Given the description of an element on the screen output the (x, y) to click on. 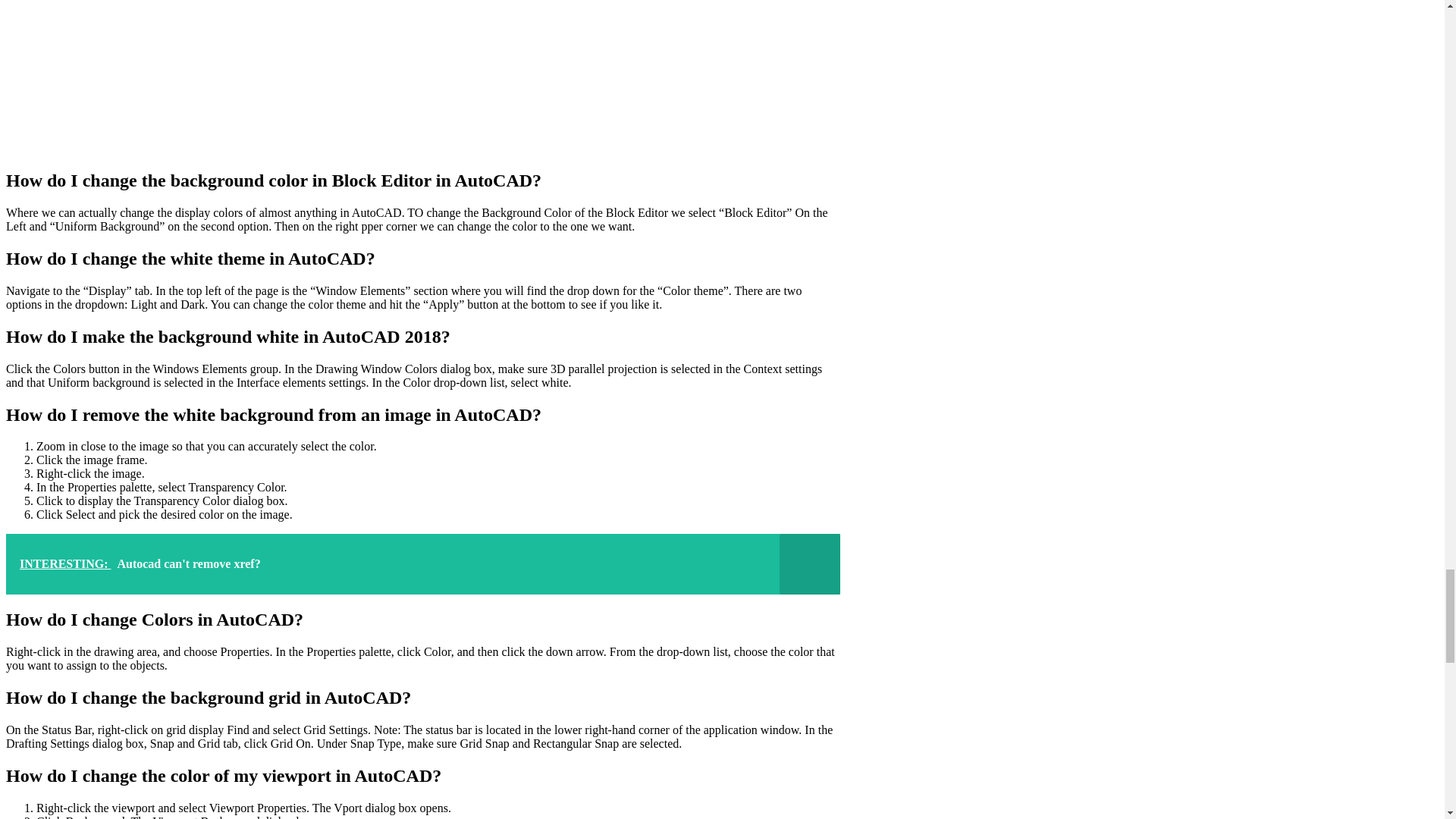
INTERESTING:   Autocad can't remove xref? (422, 563)
